Given the description of an element on the screen output the (x, y) to click on. 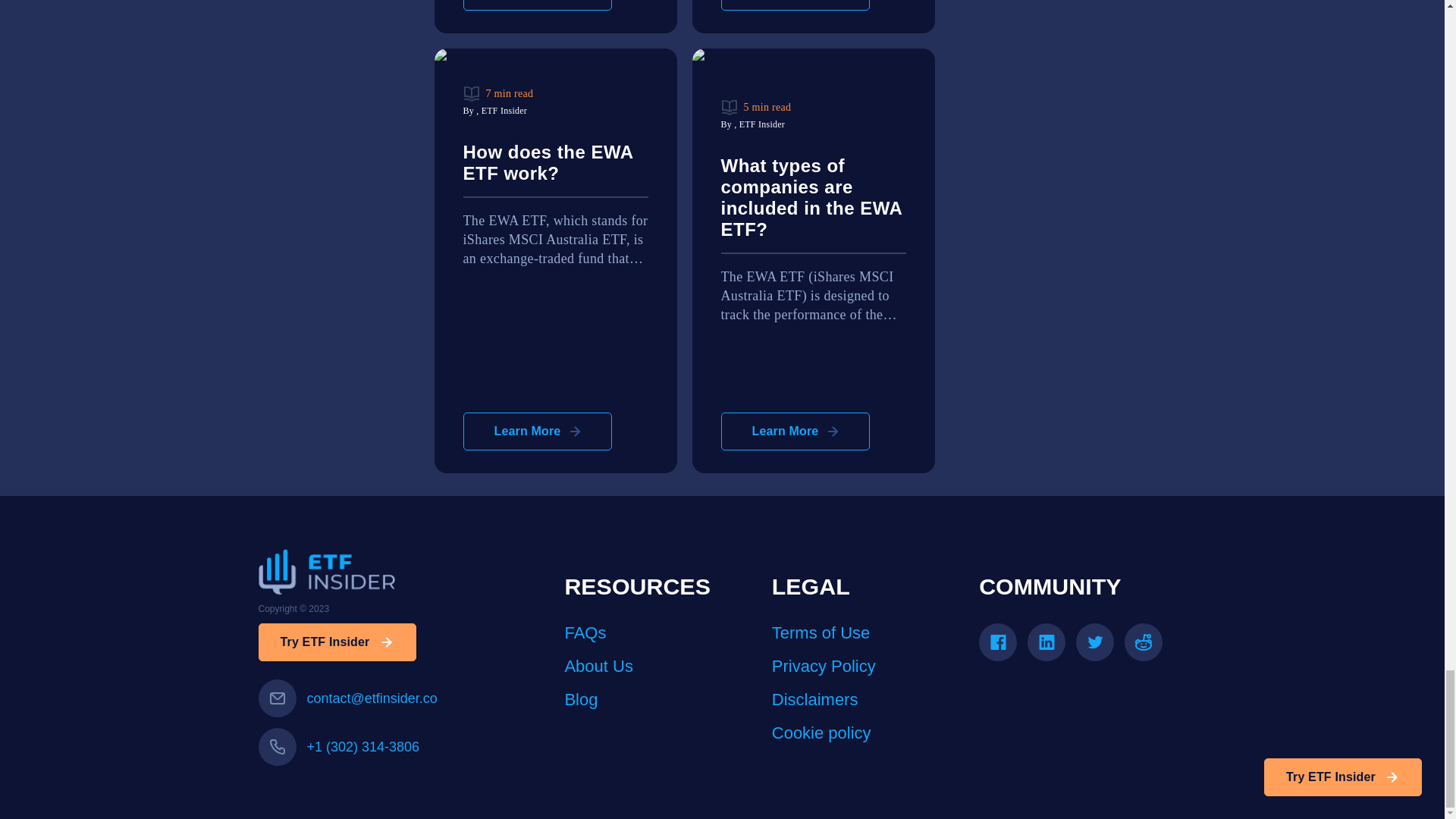
How does the EWA ETF work? (555, 169)
Learn More (537, 431)
Learn More (794, 5)
Learn More (537, 5)
